Given the description of an element on the screen output the (x, y) to click on. 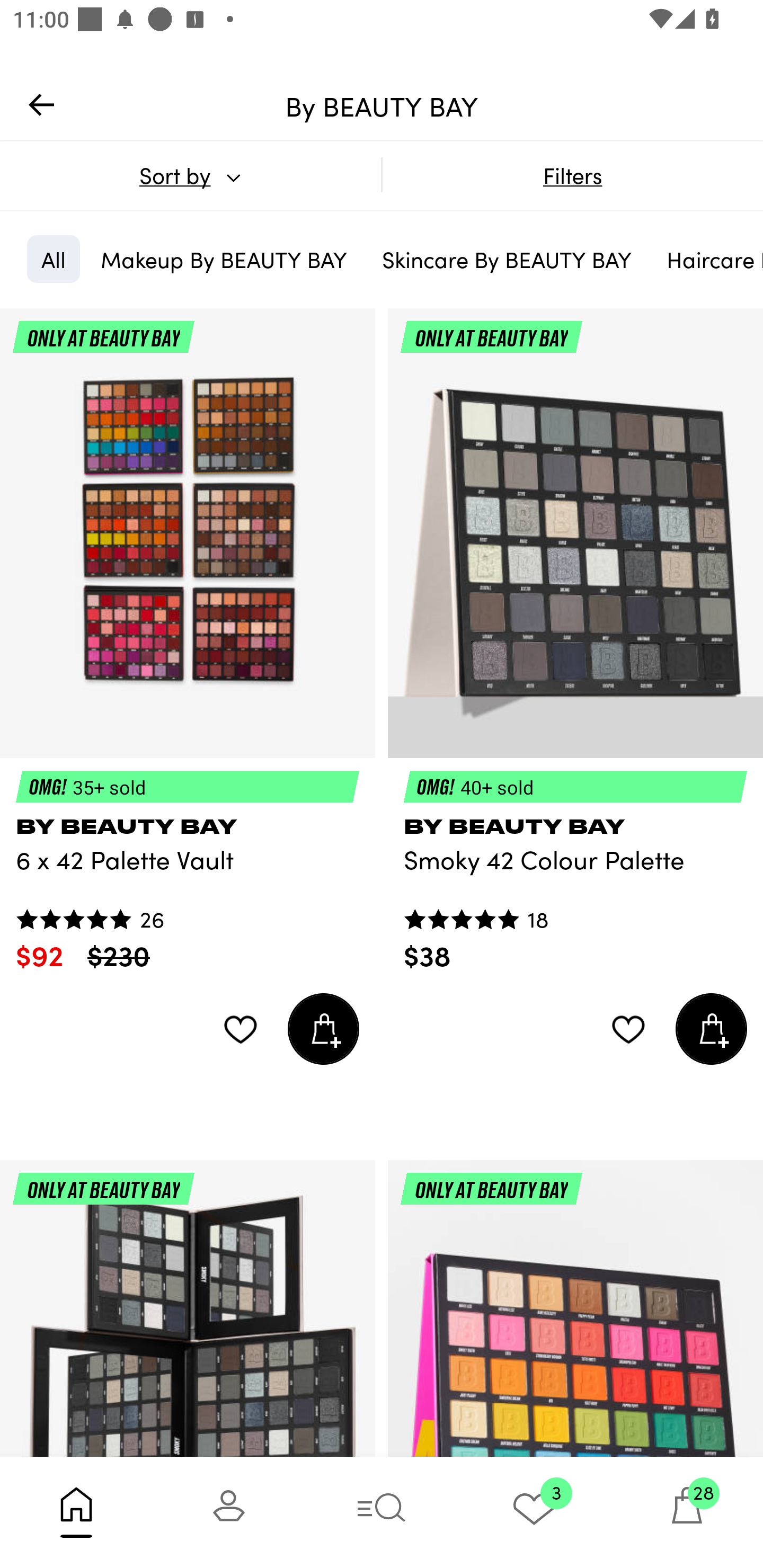
Sort by (190, 174)
Filters (572, 174)
All (53, 258)
Makeup By BEAUTY BAY (223, 258)
Skincare By BEAUTY BAY (506, 258)
Haircare By BEAUTY BAY (707, 258)
3 (533, 1512)
28 (686, 1512)
